Given the description of an element on the screen output the (x, y) to click on. 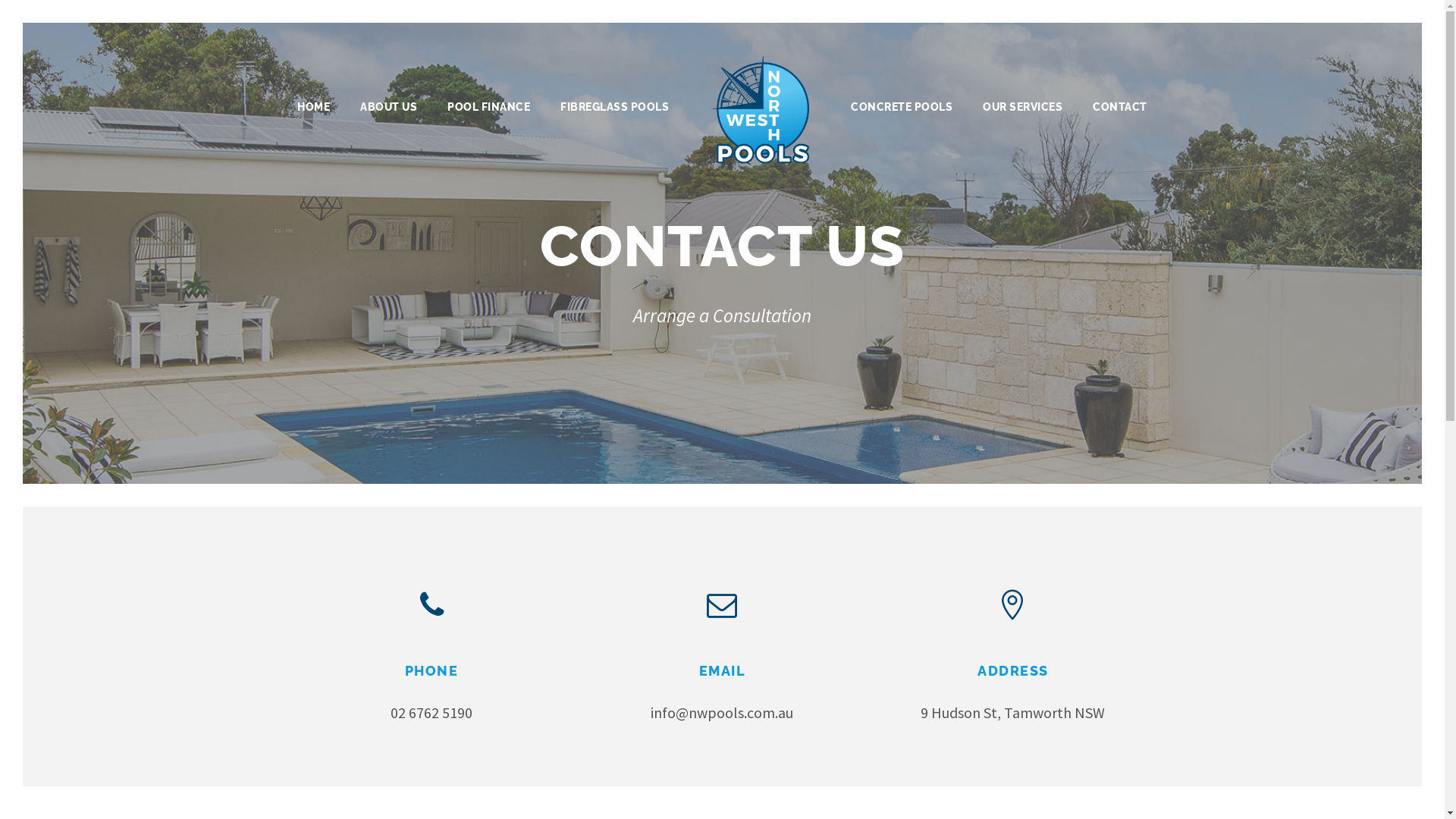
02 6762 5190 Element type: text (431, 711)
9 Hudson St, Tamworth NSW Element type: text (1012, 711)
POOL FINANCE Element type: text (488, 105)
ABOUT US Element type: text (388, 105)
TAMWORTH WEB DESIGN Element type: text (867, 757)
HOME Element type: text (313, 105)
info@nwpools.com.au Element type: text (721, 711)
FIBREGLASS POOLS Element type: text (614, 105)
CONCRETE POOLS Element type: text (901, 105)
CONTACT Element type: text (1119, 105)
OUR SERVICES Element type: text (1022, 105)
